Given the description of an element on the screen output the (x, y) to click on. 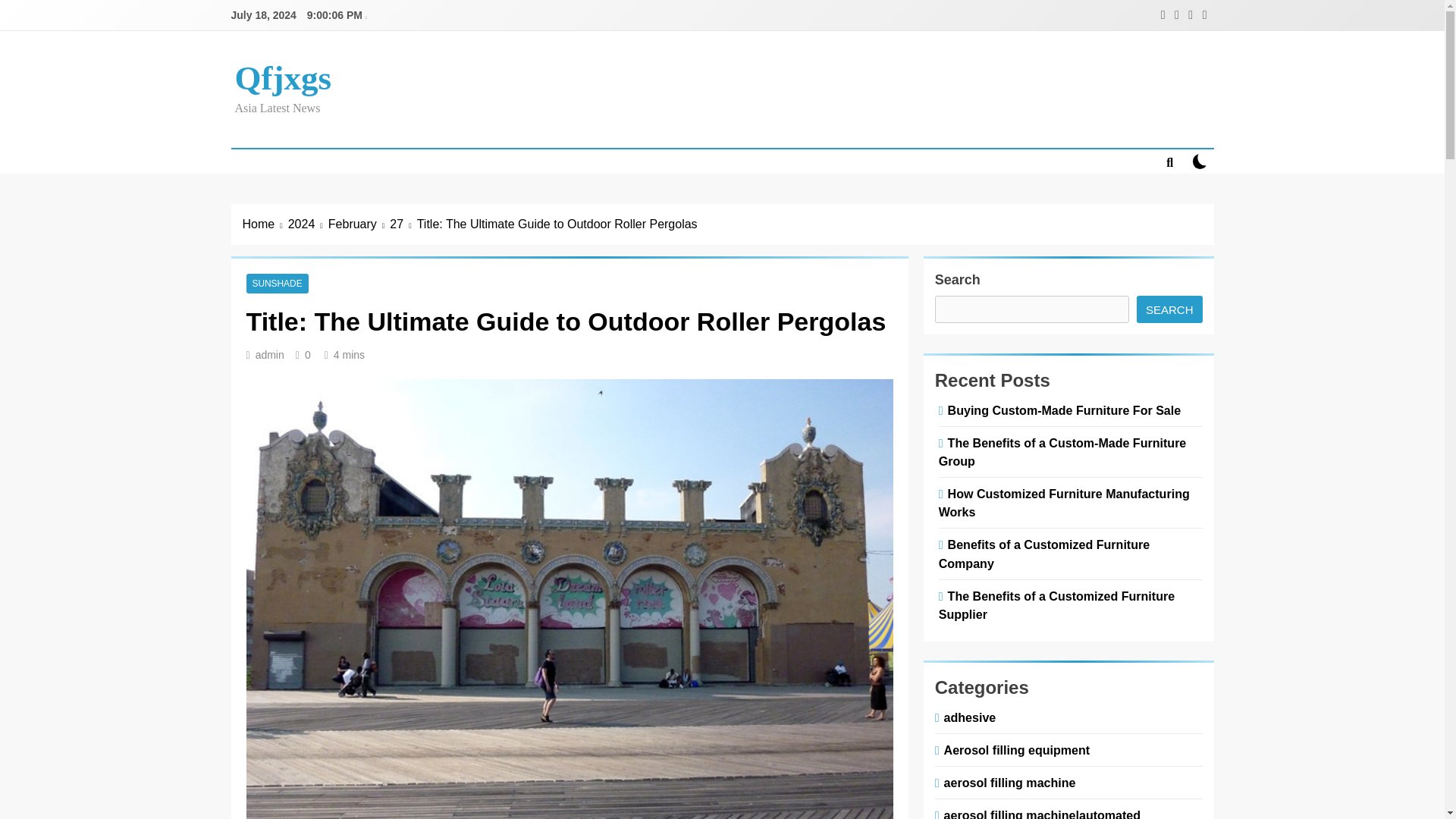
on (1199, 160)
Qfjxgs (282, 77)
admin (269, 354)
SEARCH (1169, 308)
27 (403, 224)
February (359, 224)
2024 (308, 224)
SUNSHADE (276, 283)
Home (265, 224)
